Given the description of an element on the screen output the (x, y) to click on. 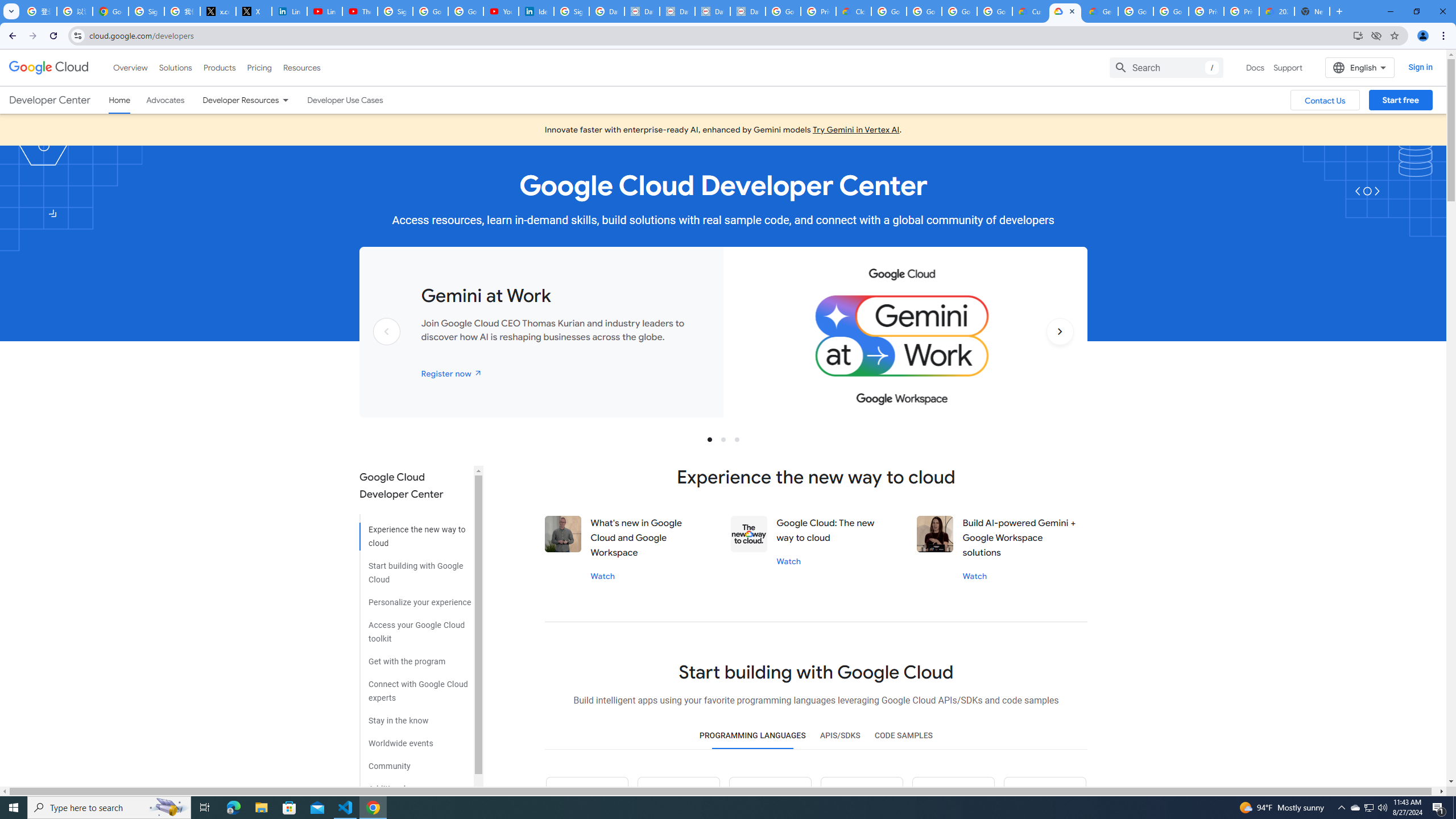
LinkedIn Privacy Policy (288, 11)
Developer Center (49, 100)
Slide 1 (709, 438)
Slide 3 (736, 438)
X (253, 11)
Start free (1400, 100)
Advocates (165, 99)
Dropdown menu for Developer Resources (285, 99)
Customer Care | Google Cloud (1029, 11)
Java icon (678, 798)
Google Cloud Platform (1135, 11)
Google Workspace - Specific Terms (959, 11)
Experience the new way to cloud (415, 532)
